Given the description of an element on the screen output the (x, y) to click on. 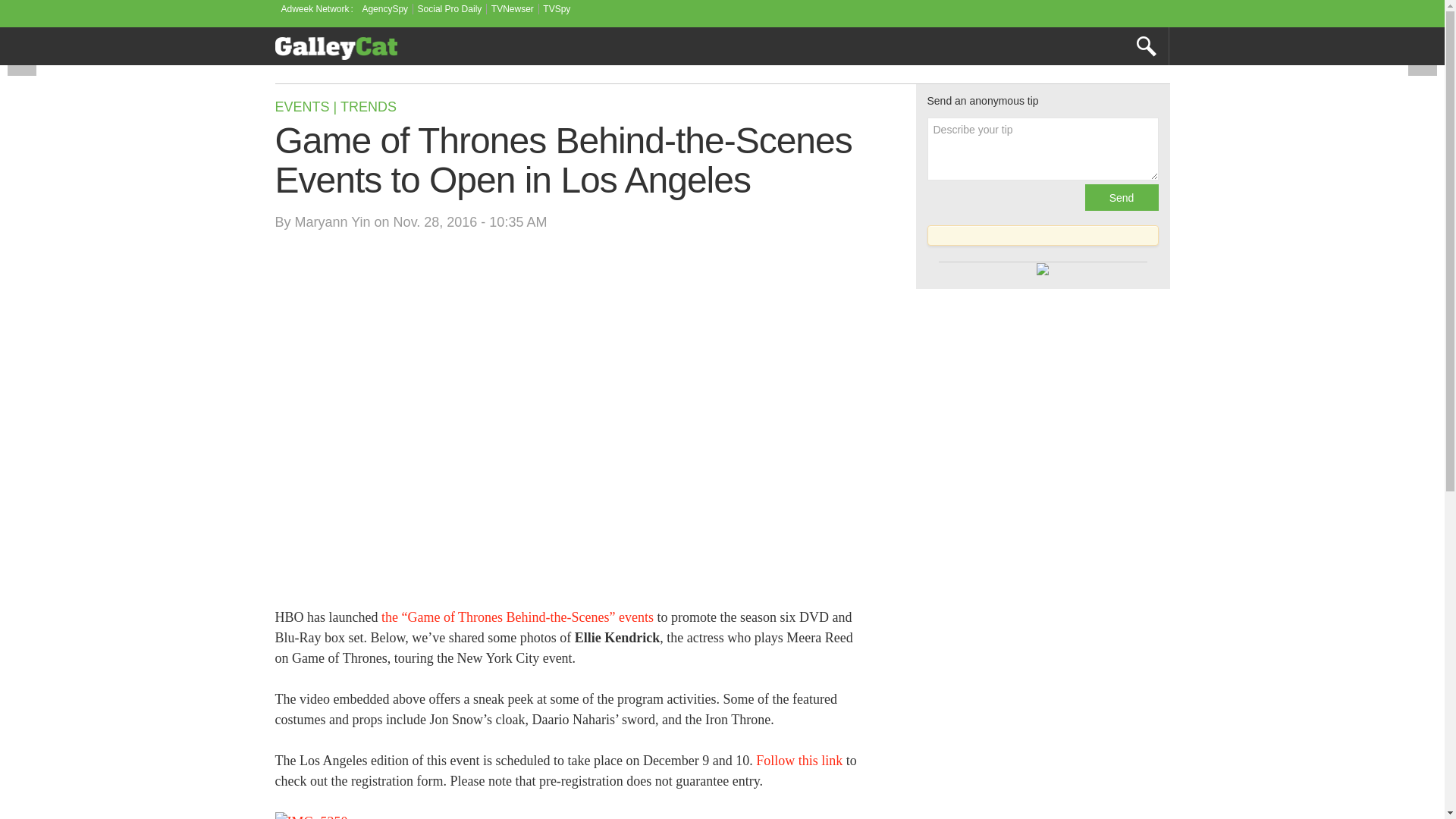
EVENTS (302, 106)
Maryann Yin (333, 222)
Follow this link (799, 760)
AgencySpy (384, 9)
Adweek Network (316, 9)
Social Pro Daily (449, 9)
Send (1120, 197)
TRENDS (368, 106)
TVSpy (556, 9)
Covering the book publishing industry (336, 47)
TVNewser (513, 9)
